Given the description of an element on the screen output the (x, y) to click on. 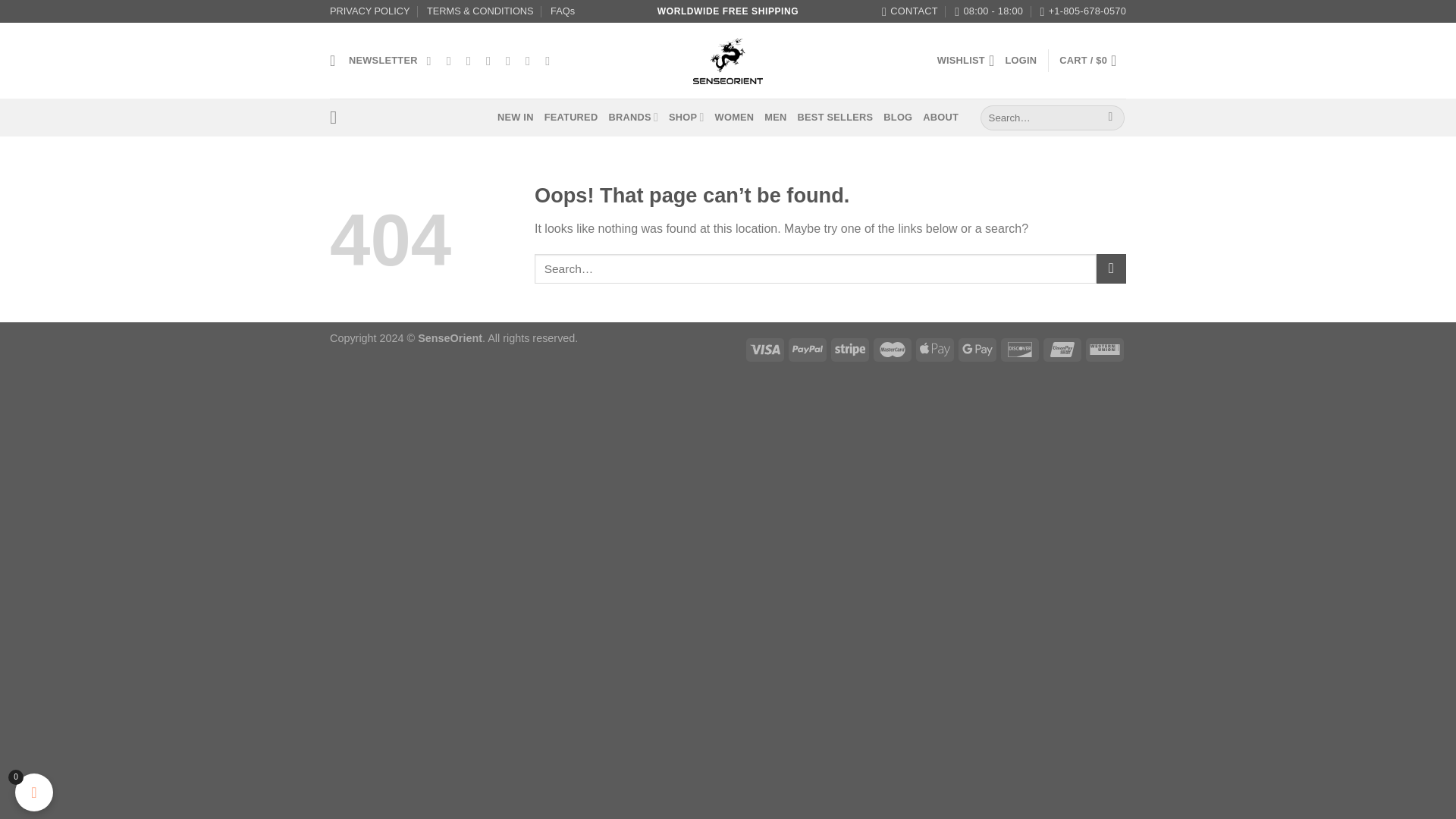
FAQs (562, 11)
LOGIN (1020, 60)
NEW IN (515, 117)
Follow on YouTube (550, 60)
FEATURED (571, 117)
BRANDS (633, 117)
Follow on Instagram (452, 60)
Follow on Twitter (472, 60)
Follow on Facebook (432, 60)
CONTACT (909, 11)
08:00 - 18:00 (989, 11)
Follow on LinkedIn (531, 60)
PRIVACY POLICY (370, 11)
08:00 - 18:00  (989, 11)
